Given the description of an element on the screen output the (x, y) to click on. 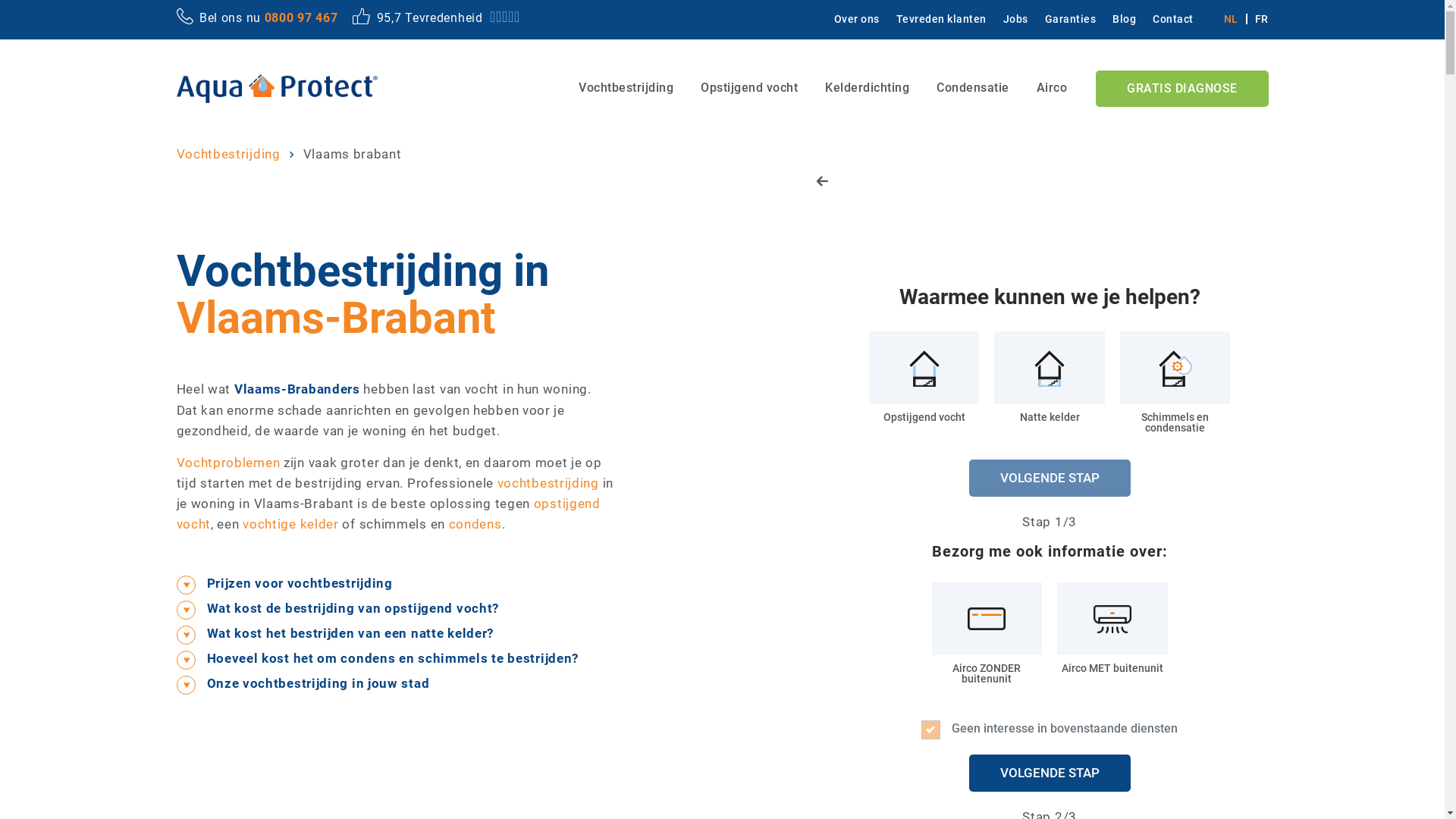
VOLGENDE STAP Element type: text (1049, 477)
vochtbestrijding Element type: text (548, 482)
Airco Element type: text (1051, 87)
vochtige kelder Element type: text (290, 523)
Garanties Element type: text (1064, 18)
Condensatie Element type: text (972, 87)
0800 97 467 Element type: text (301, 17)
Onze vochtbestrijding in jouw stad Element type: text (394, 683)
Jobs Element type: text (1010, 18)
condens Element type: text (475, 523)
VOLGENDE STAP Element type: text (1049, 772)
Wat kost het bestrijden van een natte kelder? Element type: text (394, 633)
Vochtbestrijding Element type: text (227, 152)
Kelderdichting Element type: text (866, 87)
opstijgend vocht Element type: text (387, 513)
Hoeveel kost het om condens en schimmels te bestrijden? Element type: text (394, 658)
Wat kost de bestrijding van opstijgend vocht? Element type: text (394, 608)
Vochtproblemen Element type: text (227, 462)
Tevreden klanten Element type: text (935, 18)
Contact Element type: text (1167, 18)
Over ons Element type: text (850, 18)
NL Element type: text (1234, 18)
Home - Aqua Protect, Vochtbestrijding Element type: hover (275, 88)
Opstijgend vocht Element type: text (749, 87)
Vochtbestrijding Element type: text (625, 87)
Prijzen voor vochtbestrijding Element type: text (394, 583)
GRATIS DIAGNOSE Element type: text (1181, 88)
Blog Element type: text (1118, 18)
FR Element type: text (1256, 18)
